Given the description of an element on the screen output the (x, y) to click on. 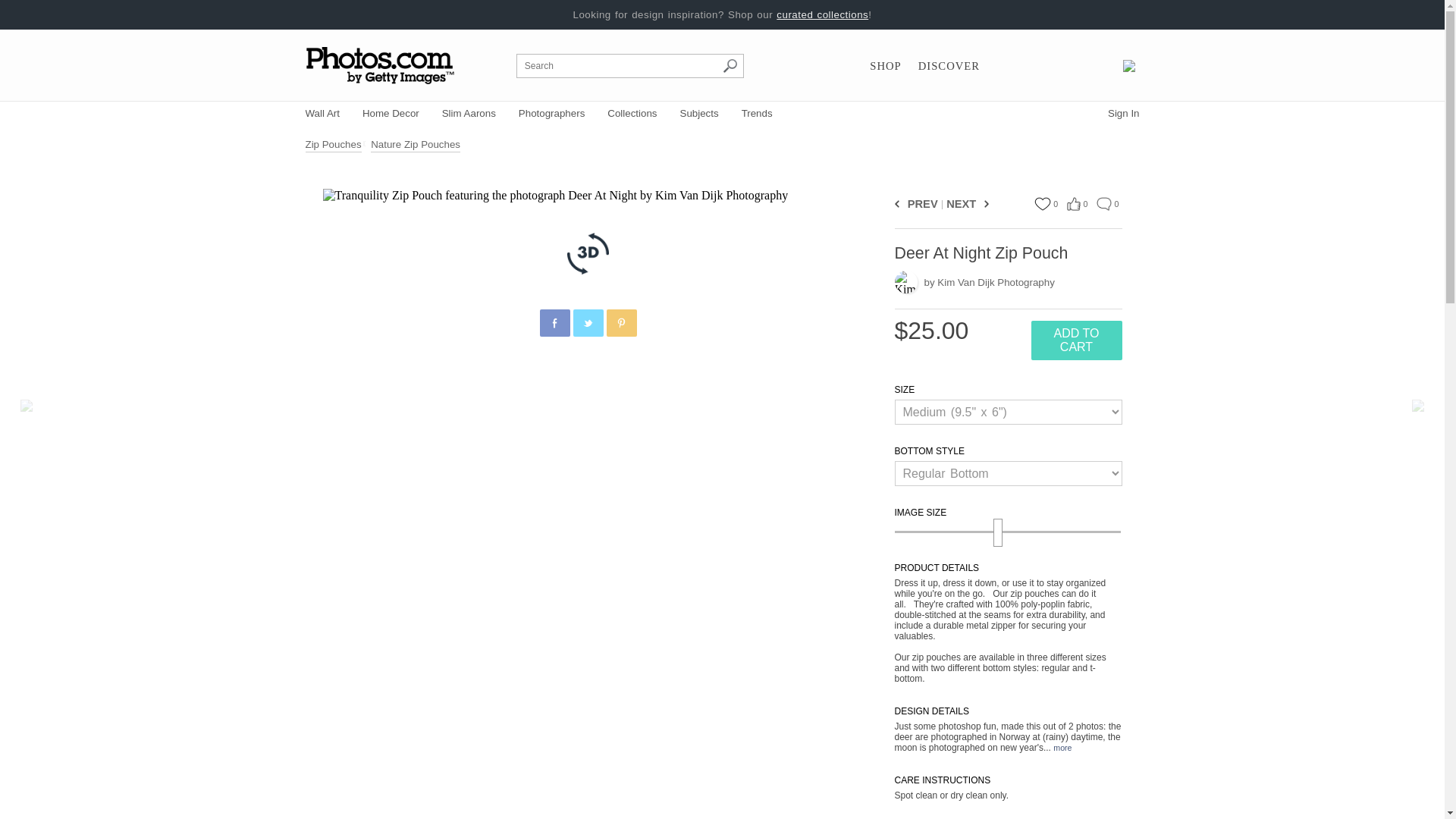
Share Product on Pinterest (622, 322)
Share Product on Twitter (588, 322)
Search (729, 65)
Photos.com - Buy Art Online (380, 65)
Twitter (588, 322)
curated collections (821, 14)
Pinterest (621, 322)
DISCOVER (949, 66)
SHOP (885, 66)
